Given the description of an element on the screen output the (x, y) to click on. 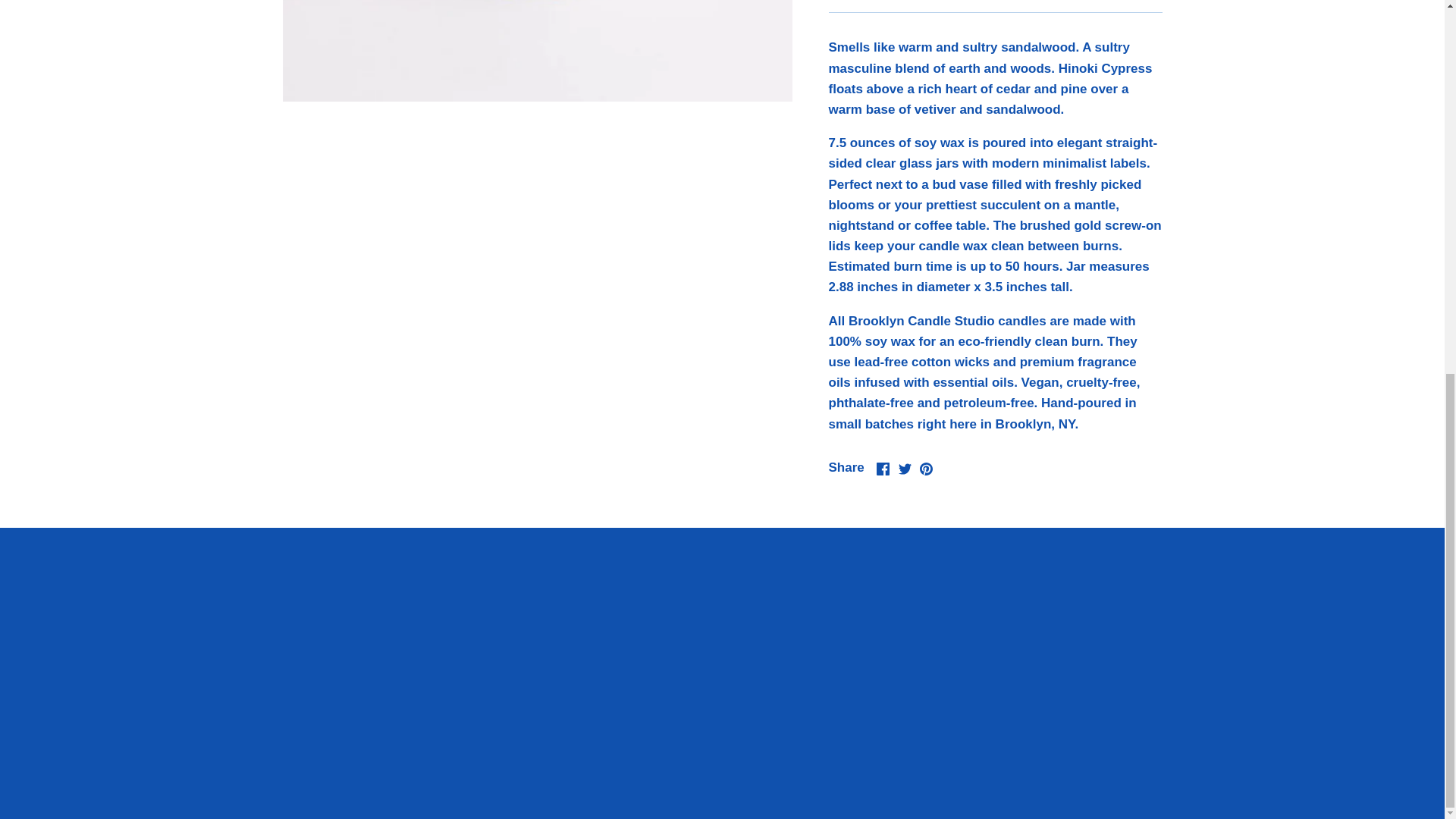
Pinterest (926, 468)
Facebook (882, 468)
Twitter (904, 468)
